Given the description of an element on the screen output the (x, y) to click on. 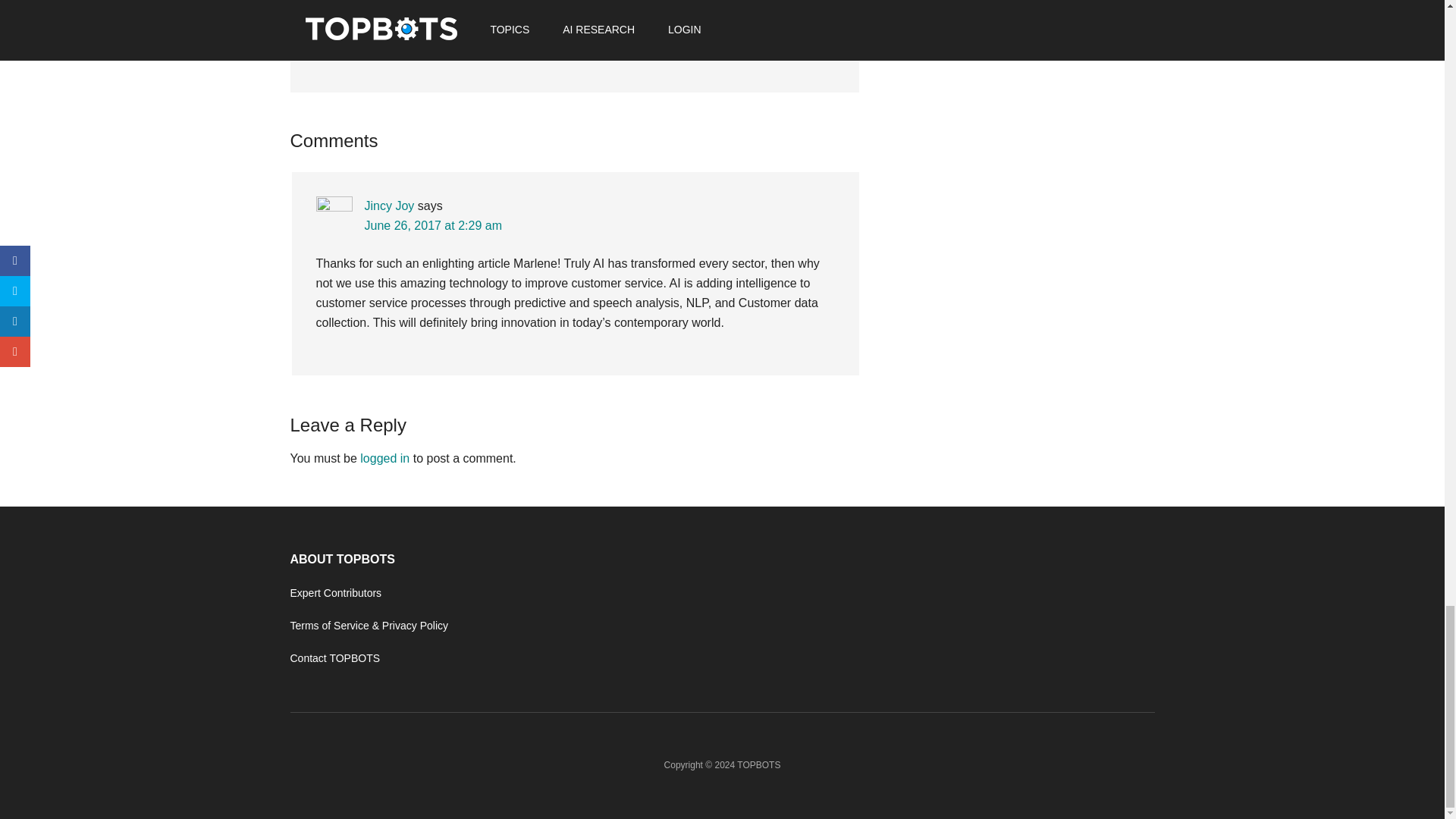
Jincy Joy (388, 205)
June 26, 2017 at 2:29 am (432, 225)
logged in (384, 458)
